Given the description of an element on the screen output the (x, y) to click on. 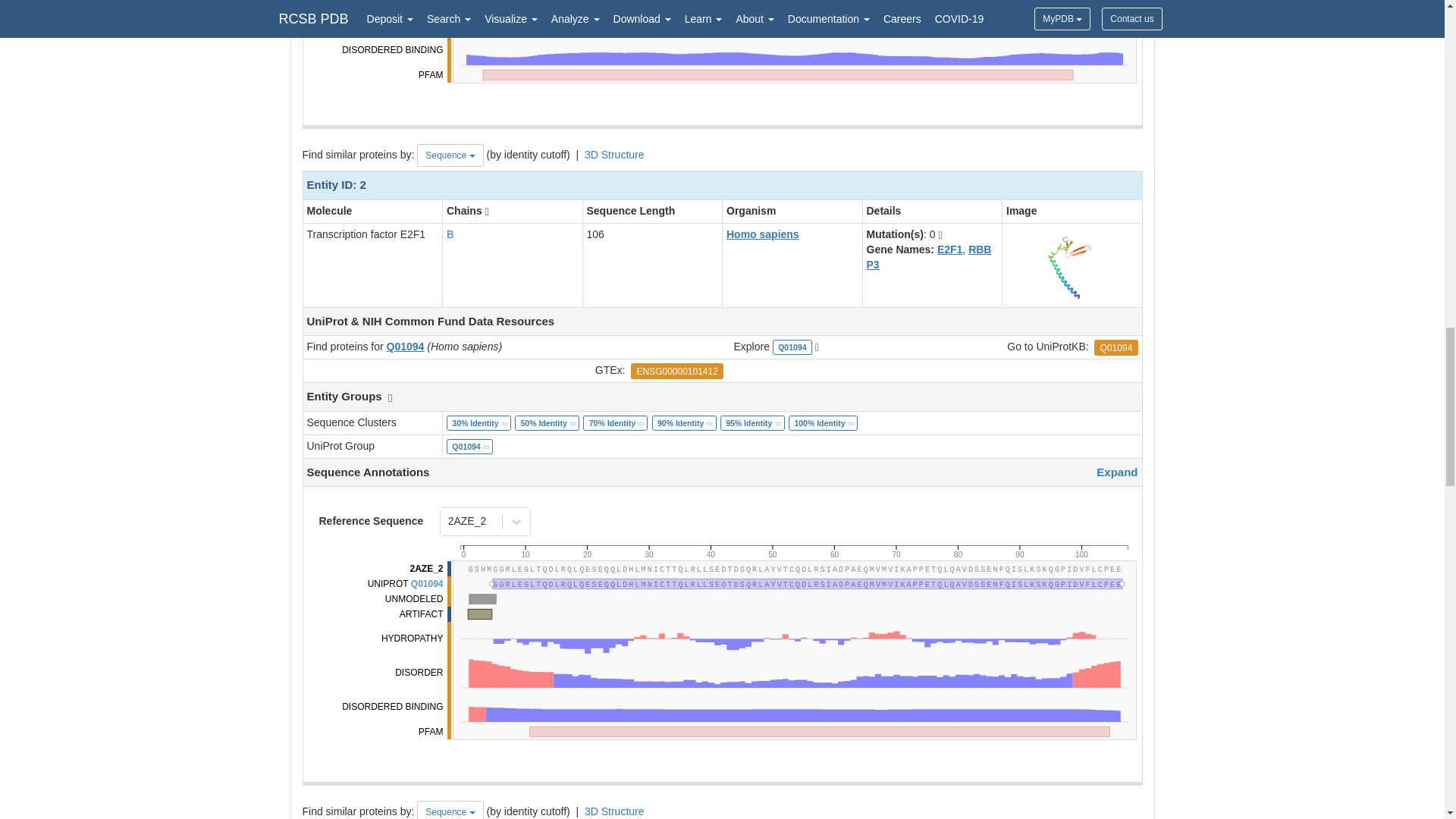
Diseases, drugs and related data (792, 548)
